Given the description of an element on the screen output the (x, y) to click on. 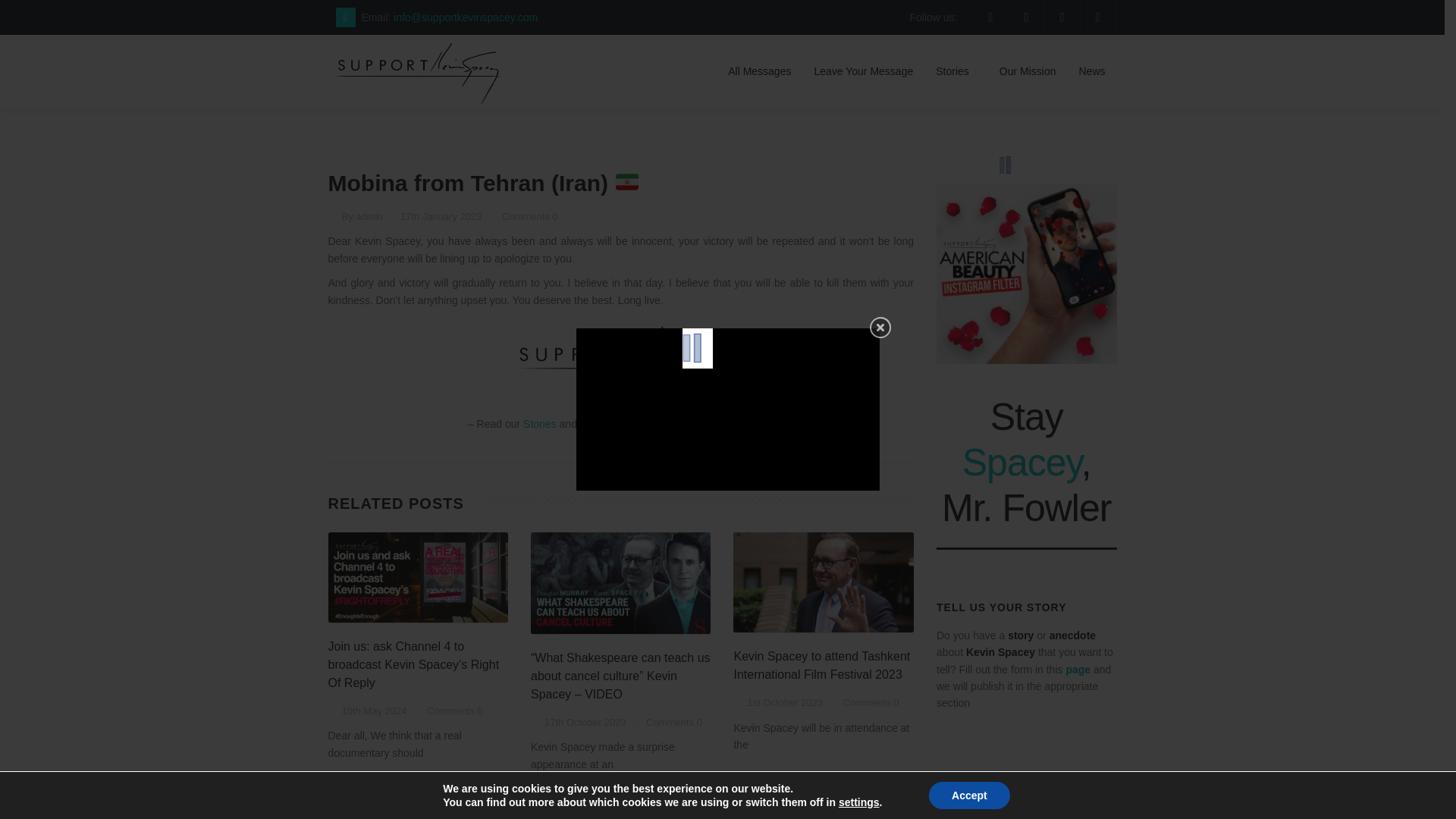
Support Kevin Spacey (417, 53)
Our Mission (1027, 71)
Comments 0 (869, 702)
Twitter (757, 423)
admin (368, 215)
Instagram (695, 423)
Facebook (642, 423)
All Messages (759, 71)
Comments 0 (672, 722)
Leave Your Message (863, 71)
